Given the description of an element on the screen output the (x, y) to click on. 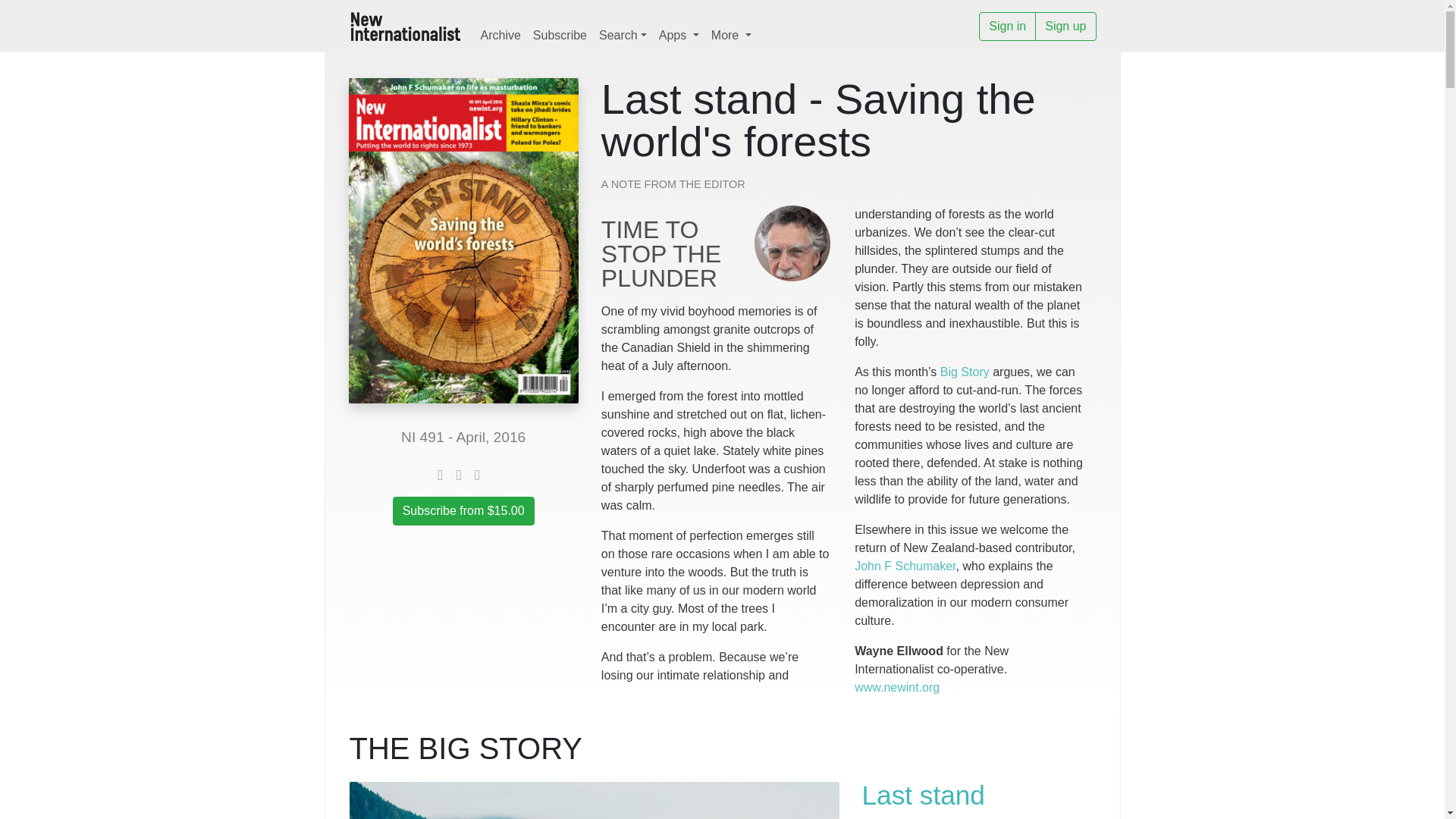
John F Schumaker (904, 565)
Sign in (1006, 26)
Big Story (965, 371)
Apps (678, 35)
www.newint.org (896, 686)
Sign up (1065, 26)
Archive (500, 35)
More (730, 35)
New Internationalist - The world unspun (406, 25)
Search (622, 35)
